Given the description of an element on the screen output the (x, y) to click on. 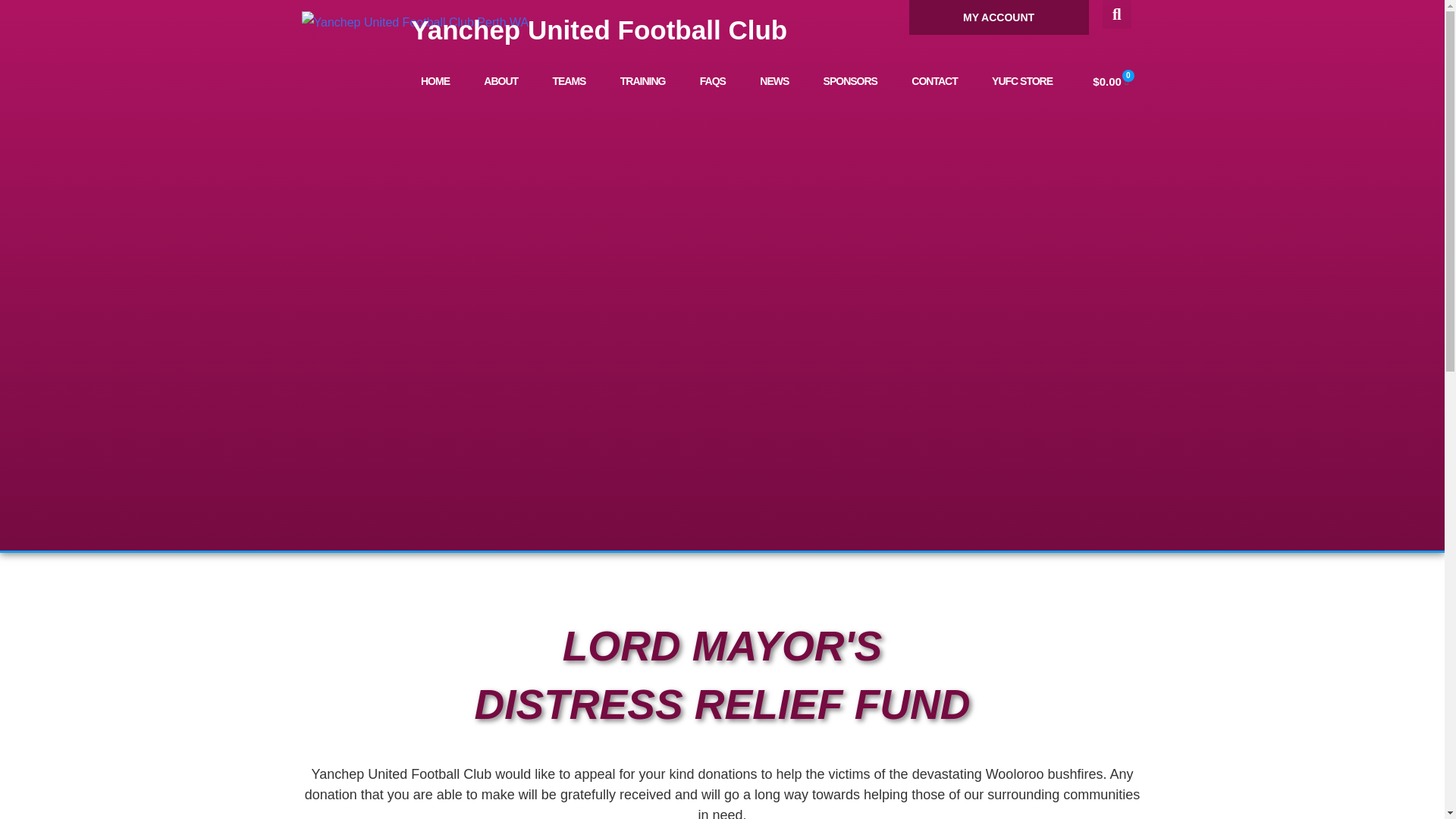
CONTACT (935, 80)
NEWS (774, 80)
HOME (434, 80)
FAQS (712, 80)
TEAMS (568, 80)
TRAINING (642, 80)
MY ACCOUNT (998, 17)
SPONSORS (850, 80)
ABOUT (501, 80)
YUFC STORE (1021, 80)
